Given the description of an element on the screen output the (x, y) to click on. 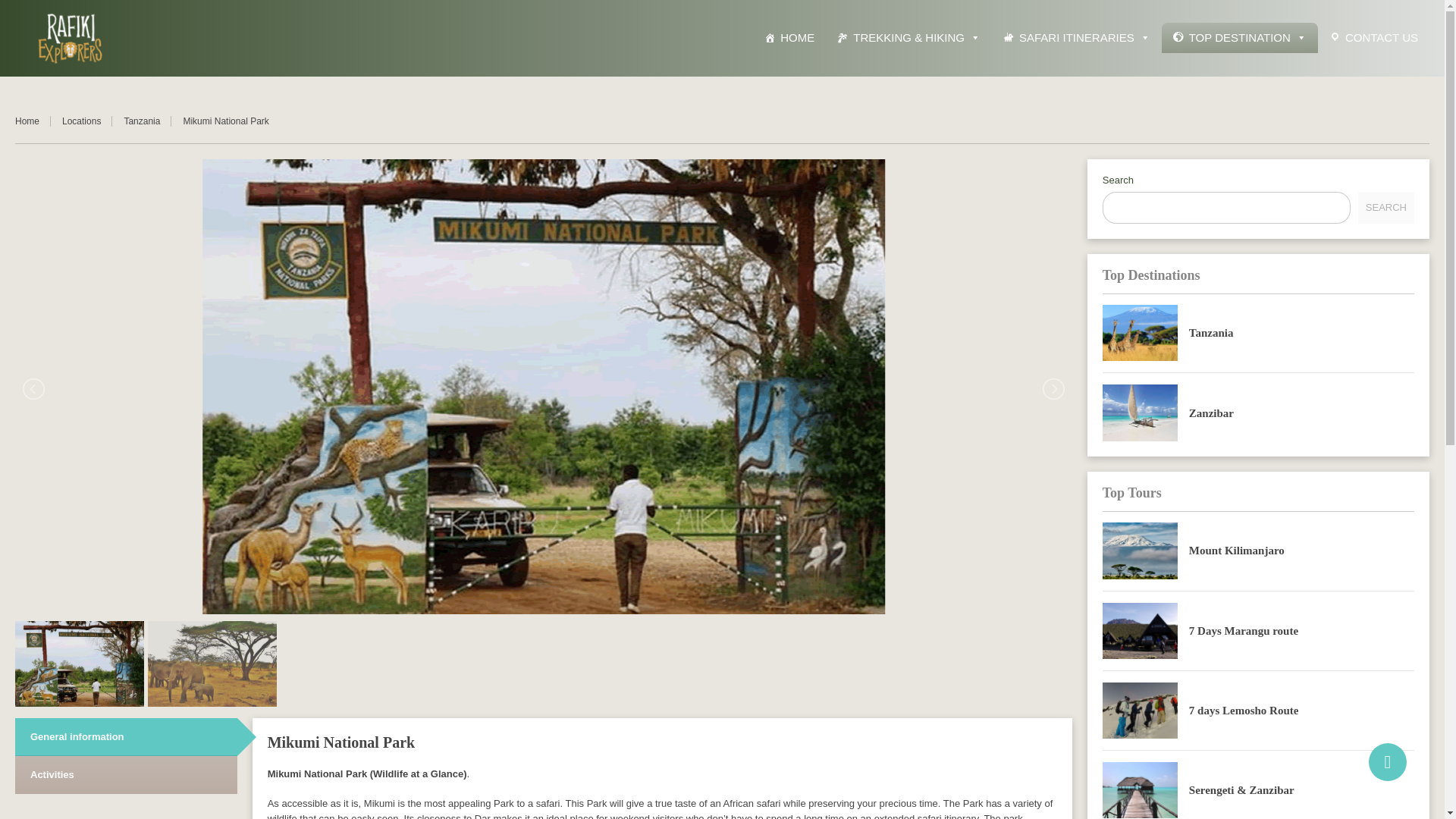
TOP DESTINATION (1239, 37)
SAFARI ITINERARIES (1076, 37)
Tanzania (1139, 332)
Locations (87, 121)
Locations (87, 121)
Home (32, 121)
Tanzania (1211, 332)
CONTACT US (1373, 37)
Tanzania (147, 121)
